Given the description of an element on the screen output the (x, y) to click on. 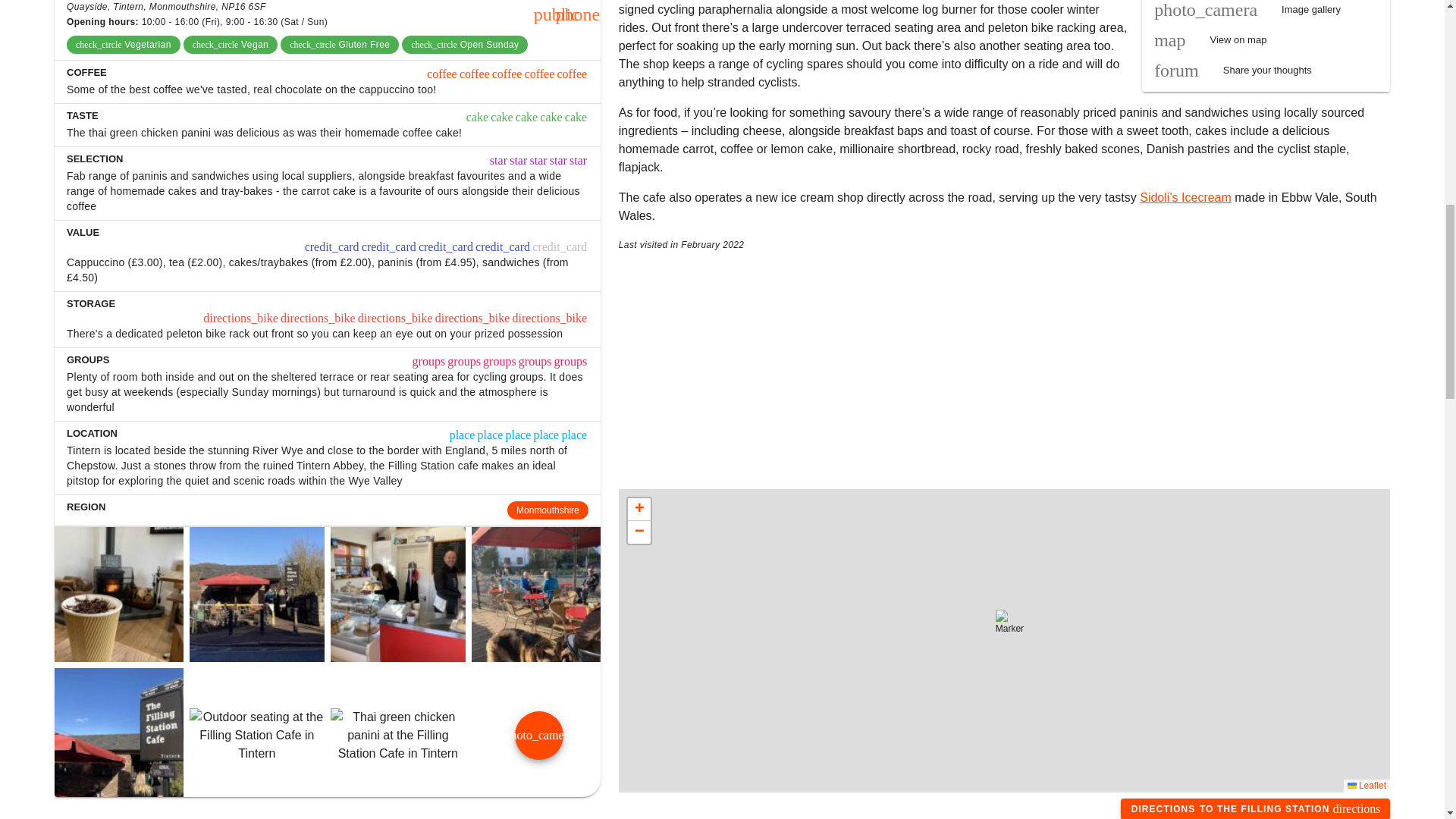
View The Filling Station's website (556, 14)
Call The Filling Station (577, 14)
Cappuccino at the Filling Station Cafe in Tintern (115, 594)
Leaflet (1367, 785)
phone (577, 14)
View further cycling friendly cafes in Monmouthshire (547, 510)
The Filling Station Cafe in Tintern (115, 735)
The Filling Station Cafe in Tintern (1255, 808)
